Given the description of an element on the screen output the (x, y) to click on. 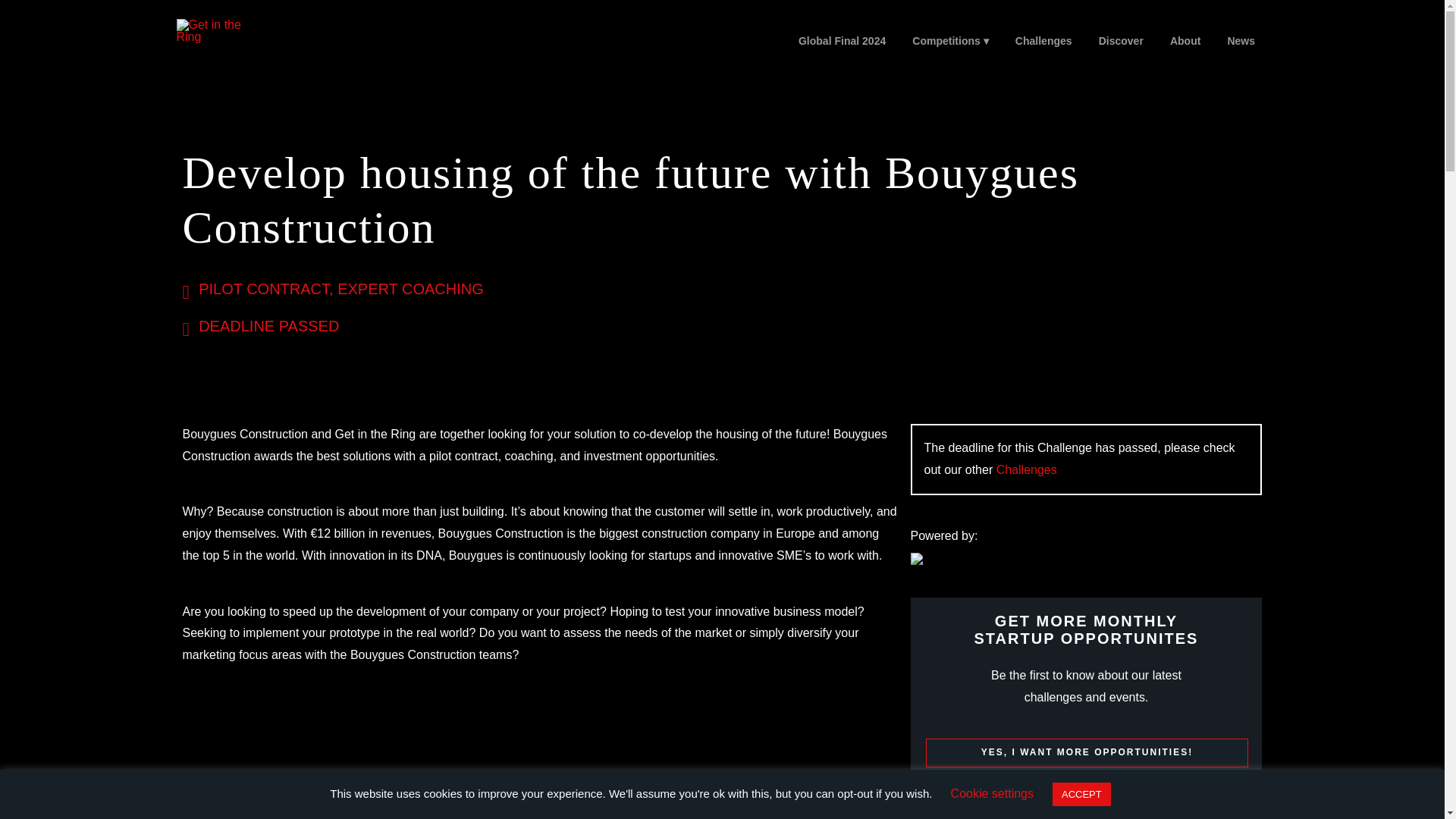
Challenges (1042, 41)
About (1185, 41)
Get in the Ring (232, 56)
Global Final 2024 (841, 41)
Challenges (1026, 469)
Cookie settings (991, 793)
News (1241, 41)
Challenges (1026, 469)
YES, I WANT MORE OPPORTUNITIES! (1085, 752)
Discover (1120, 41)
ACCEPT (1081, 793)
Competitions (951, 41)
Get in the Ring (213, 30)
